Given the description of an element on the screen output the (x, y) to click on. 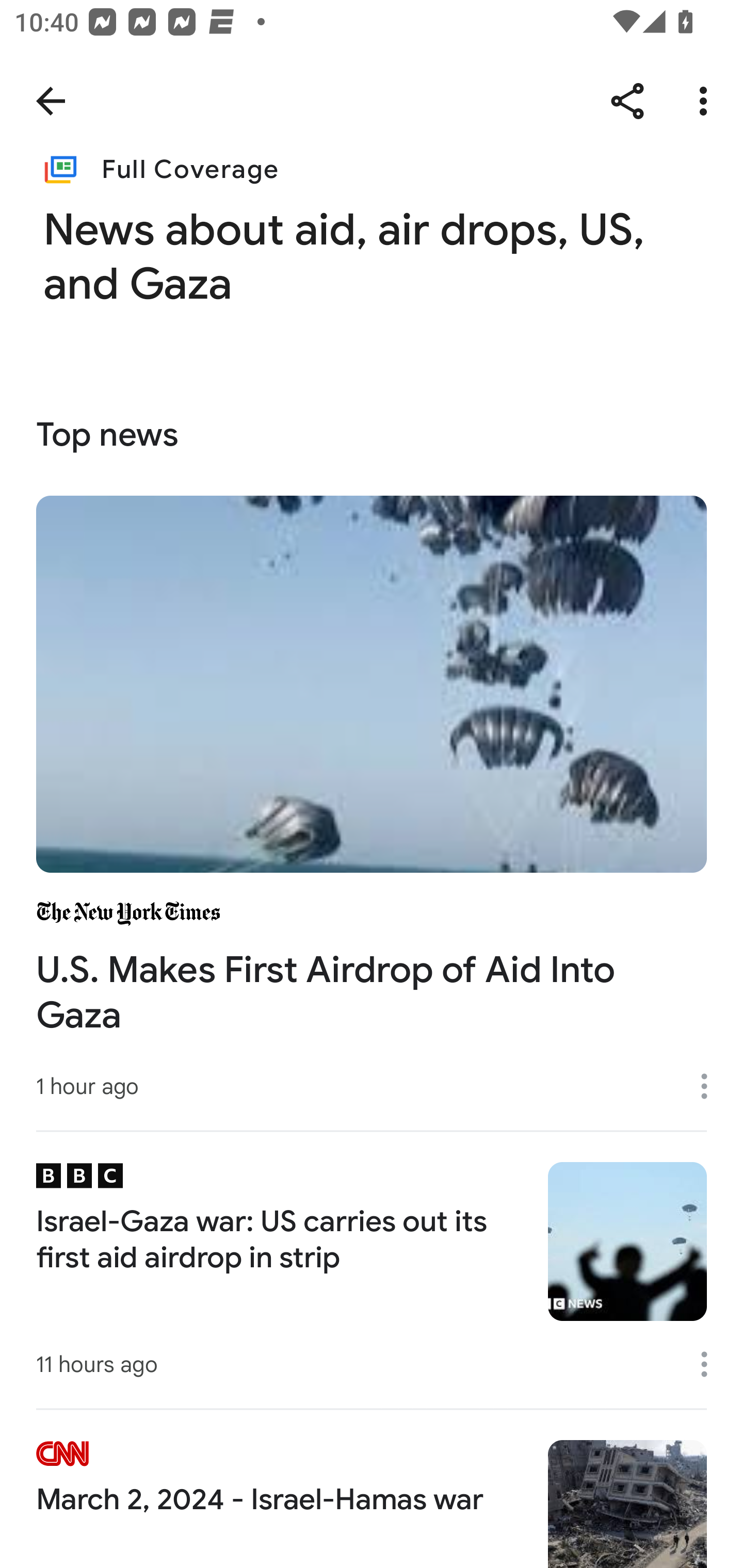
Navigate up (50, 101)
Share (626, 101)
More options (706, 101)
More options (711, 1085)
More options (711, 1364)
CNN March 2, 2024 - Israel-Hamas war (371, 1488)
